Given the description of an element on the screen output the (x, y) to click on. 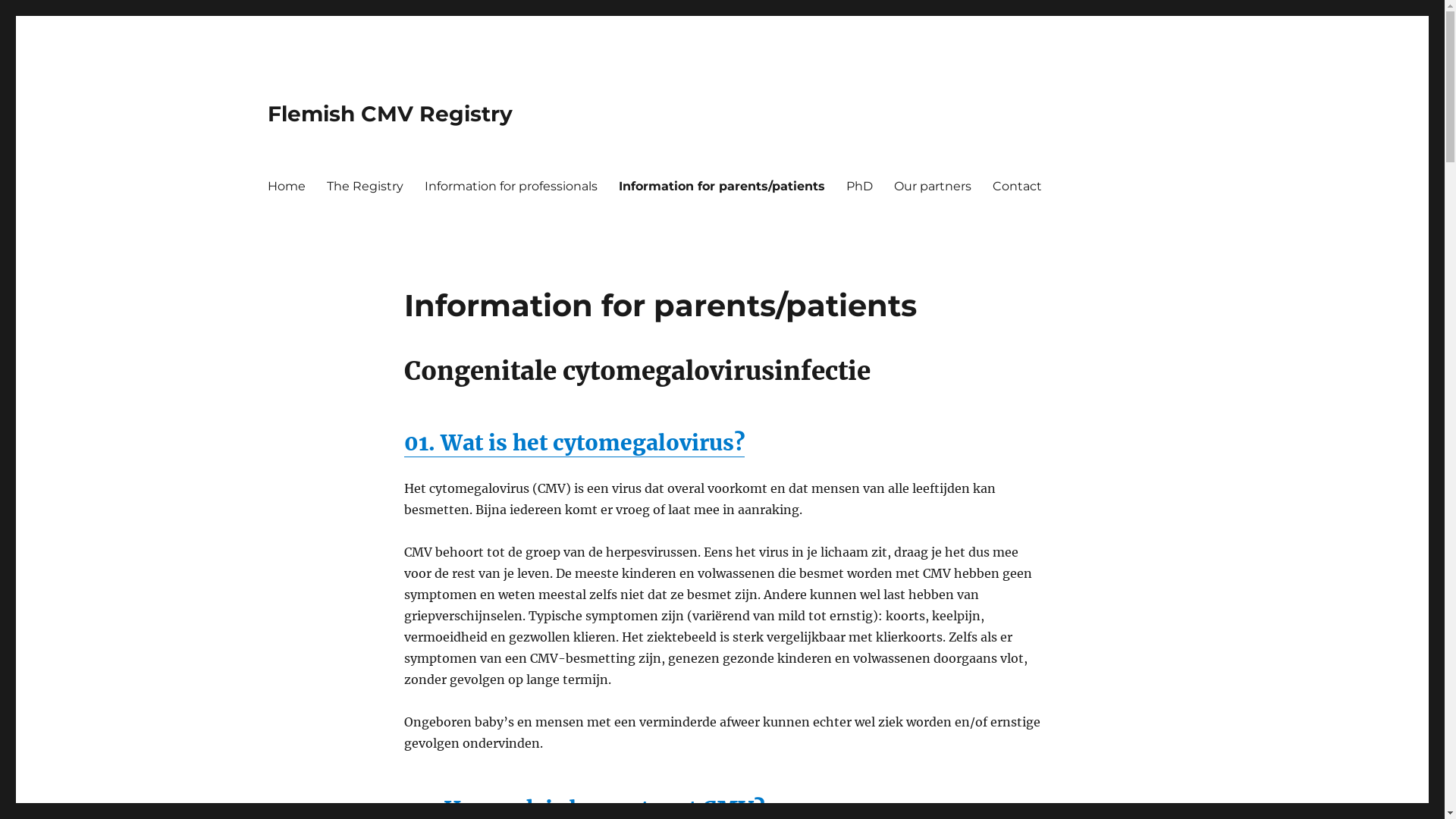
PhD Element type: text (859, 185)
Contact Element type: text (1016, 185)
The Registry Element type: text (364, 185)
Our partners Element type: text (931, 185)
Flemish CMV Registry Element type: text (388, 113)
01. Wat is het cytomegalovirus? Element type: text (573, 442)
Information for parents/patients Element type: text (721, 185)
Information for professionals Element type: text (511, 185)
Home Element type: text (285, 185)
